Given the description of an element on the screen output the (x, y) to click on. 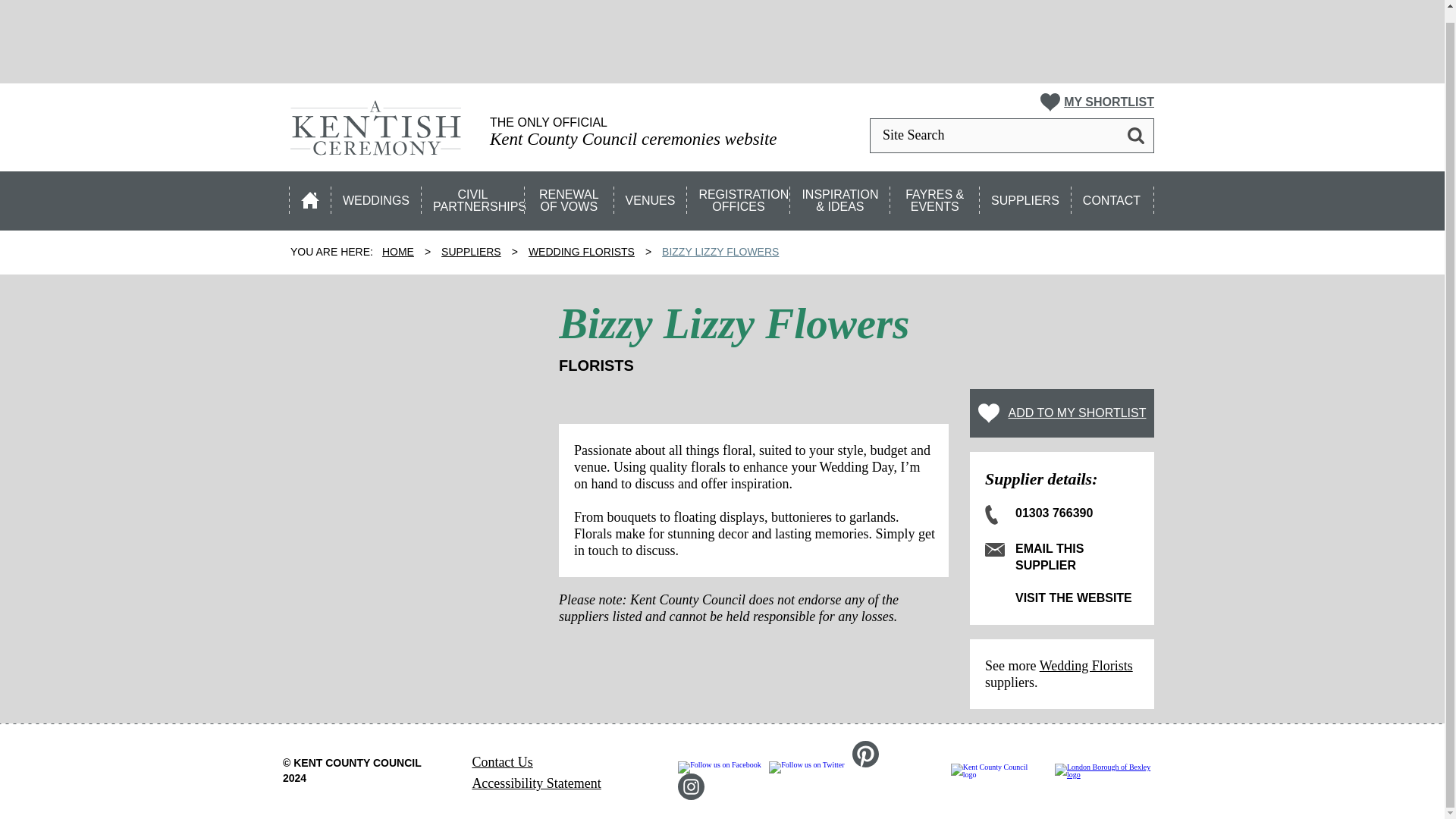
MY SHORTLIST (1097, 102)
CONTACT (1112, 196)
CIVIL PARTNERSHIPS (473, 196)
SUPPLIERS (1025, 196)
VENUES (651, 196)
WEDDINGS (376, 196)
RENEWAL OF VOWS (569, 196)
REGISTRATION OFFICES (738, 196)
